Given the description of an element on the screen output the (x, y) to click on. 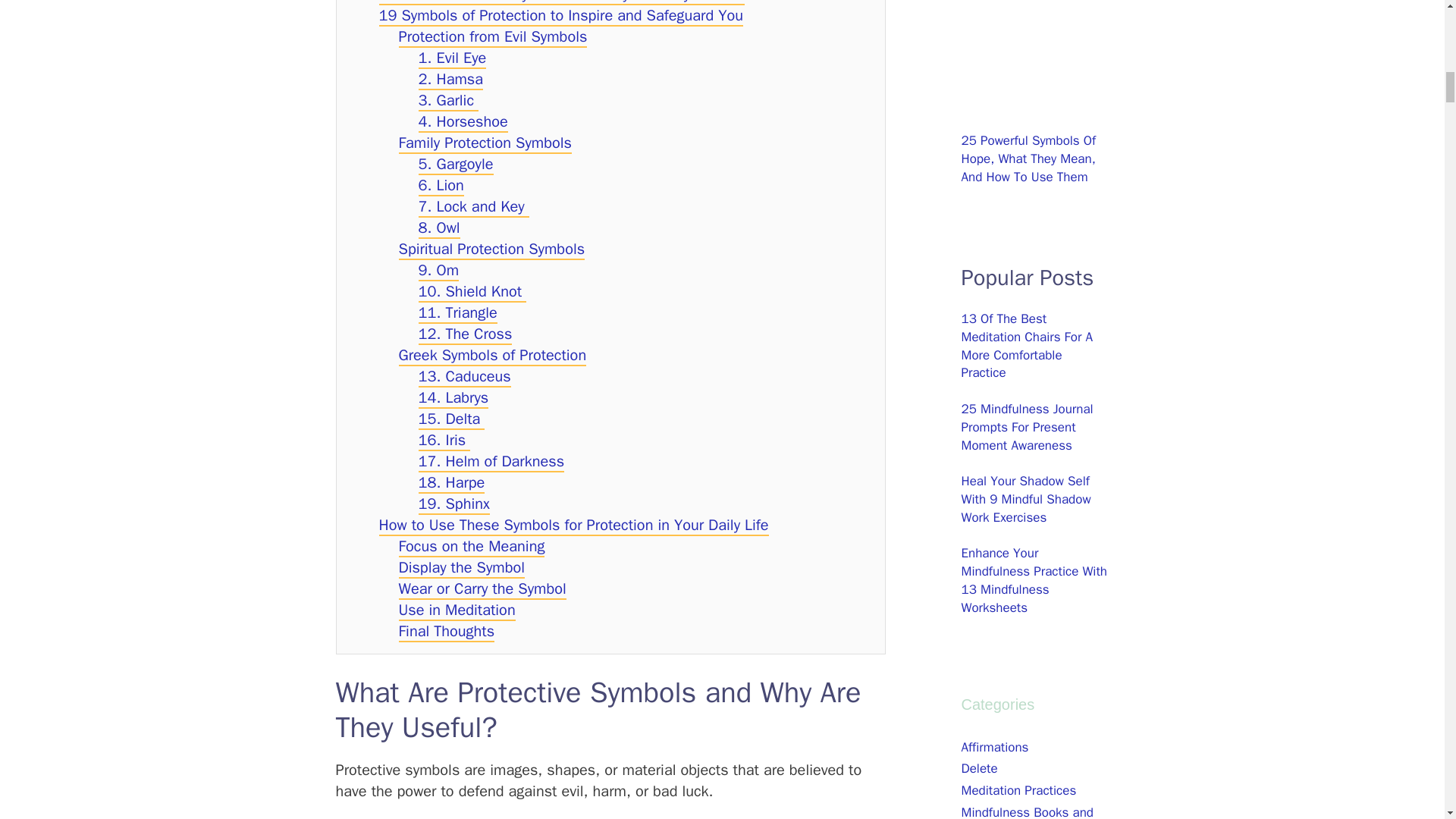
11. Triangle (458, 313)
15. Delta  (451, 419)
7. Lock and Key  (474, 207)
19 Symbols of Protection to Inspire and Safeguard You (561, 15)
16. Iris  (444, 440)
3. Garlic  (449, 100)
Use in Meditation (456, 610)
1. Evil Eye (452, 58)
8. Owl (439, 228)
5. Gargoyle (456, 164)
17. Helm of Darkness (491, 462)
10. Shield Knot  (473, 291)
2. Hamsa (451, 79)
Protection from Evil Symbols (493, 37)
Focus on the Meaning (471, 547)
